Given the description of an element on the screen output the (x, y) to click on. 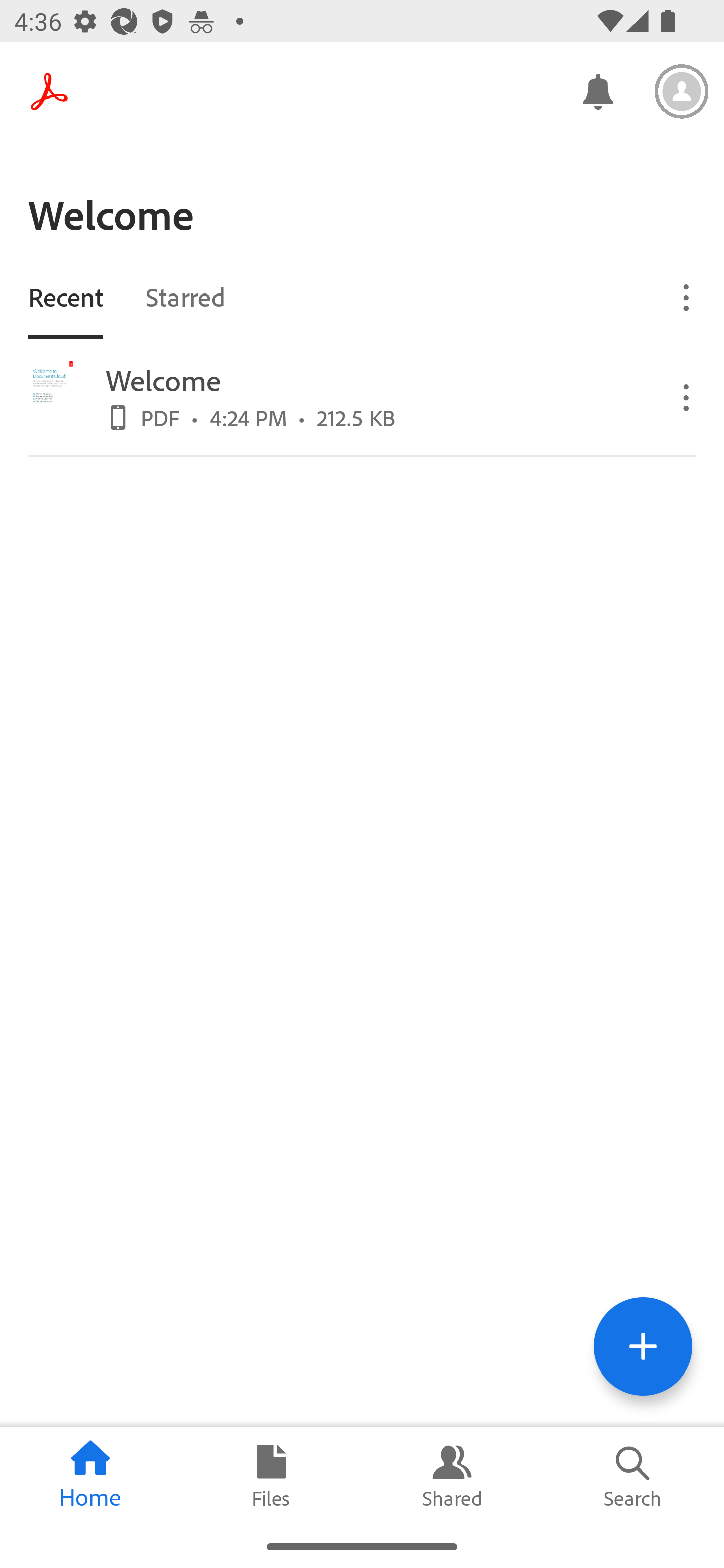
Notifications (597, 90)
Settings (681, 91)
Recent (65, 296)
Starred (185, 296)
Overflow (687, 296)
Overflow (687, 396)
Tools (642, 1345)
Home (90, 1475)
Files (271, 1475)
Shared (452, 1475)
Search (633, 1475)
